Given the description of an element on the screen output the (x, y) to click on. 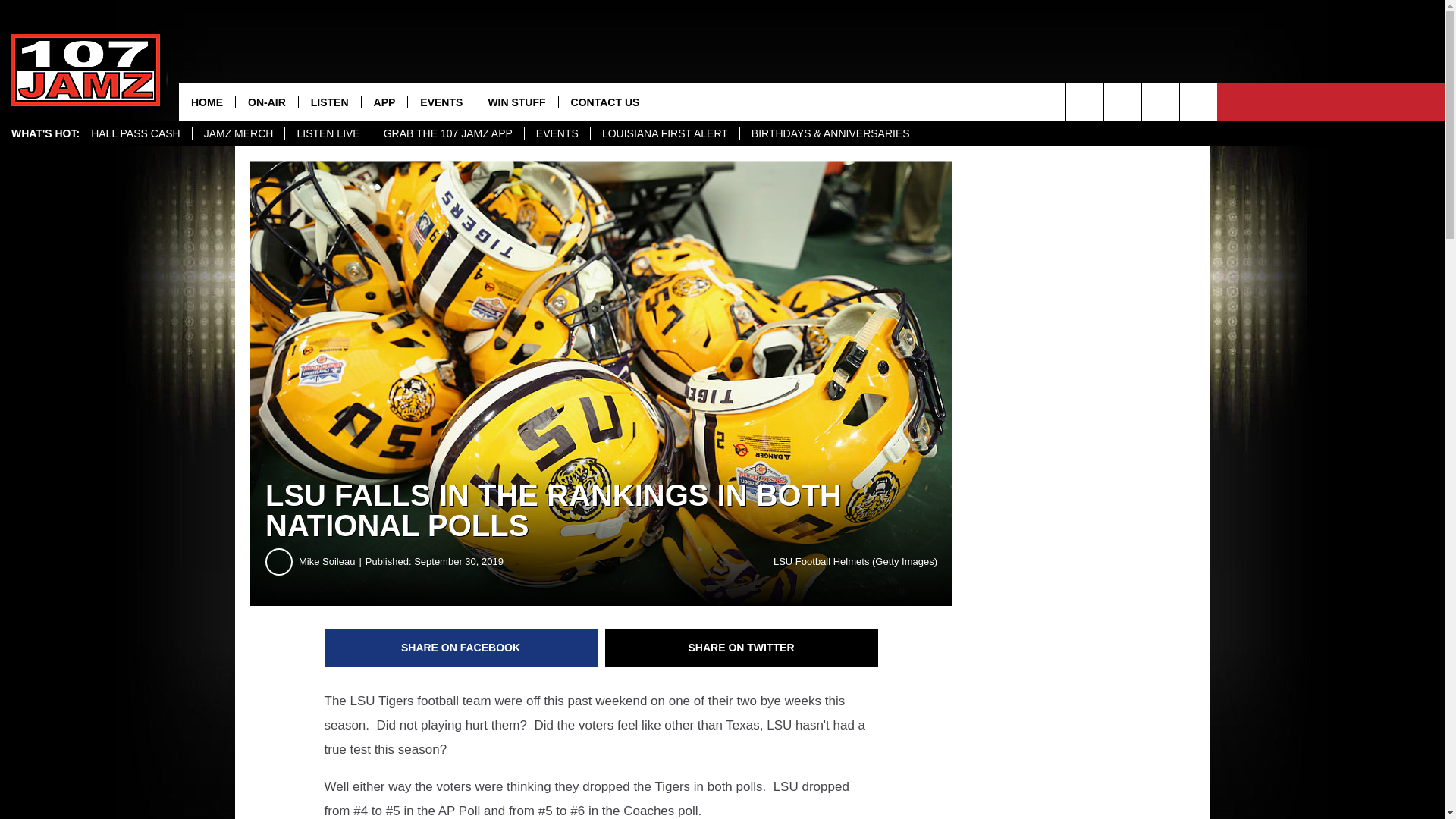
HOME (206, 102)
LISTEN (329, 102)
WIN STUFF (515, 102)
CONTACT US (604, 102)
LISTEN LIVE (327, 133)
EVENTS (440, 102)
ON-AIR (266, 102)
HALL PASS CASH (136, 133)
EVENTS (556, 133)
Share on Twitter (741, 647)
LOUISIANA FIRST ALERT (664, 133)
Share on Facebook (460, 647)
APP (384, 102)
GRAB THE 107 JAMZ APP (447, 133)
JAMZ MERCH (238, 133)
